Given the description of an element on the screen output the (x, y) to click on. 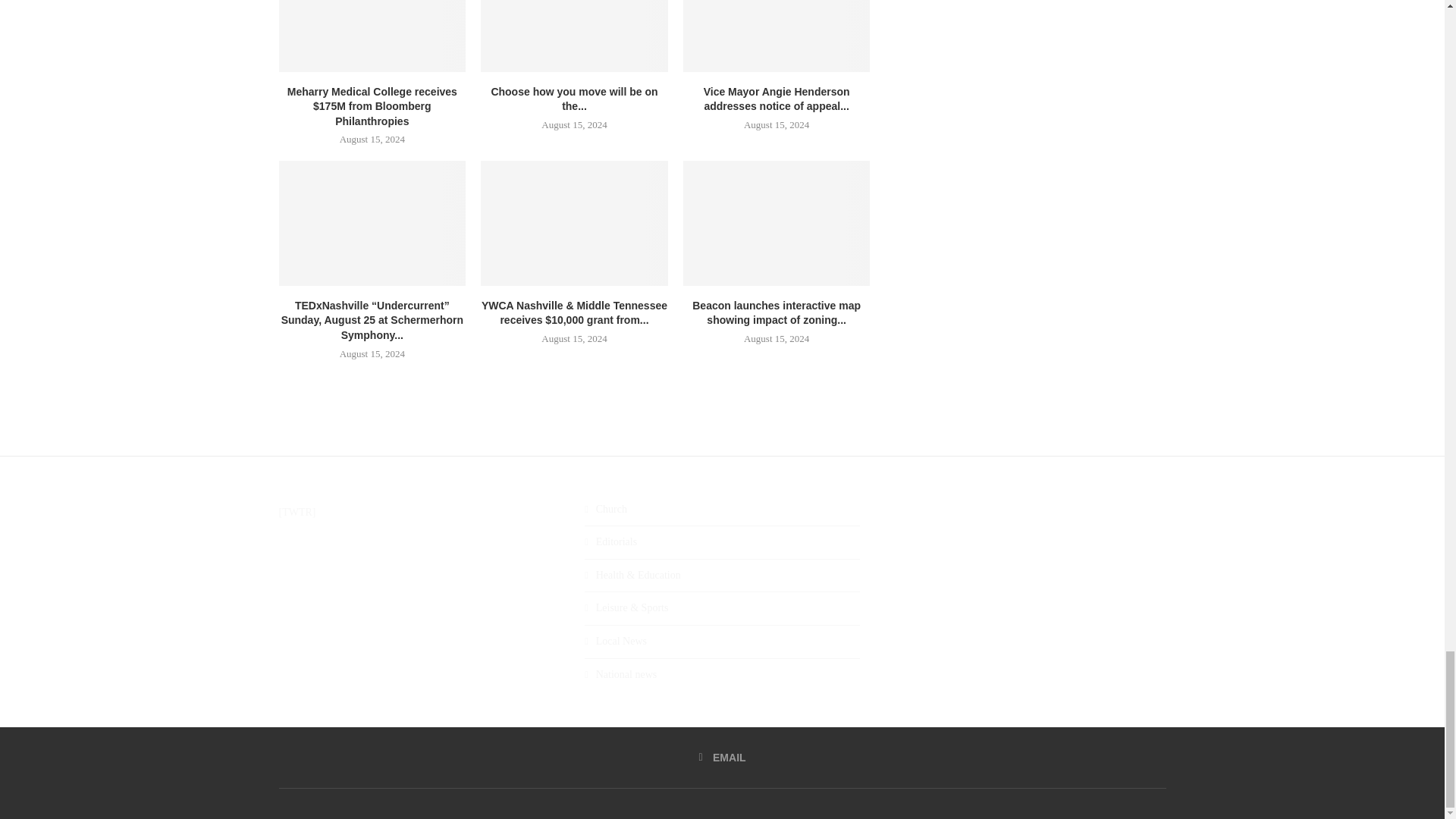
Choose how you move will be on the November ballot (574, 35)
